Given the description of an element on the screen output the (x, y) to click on. 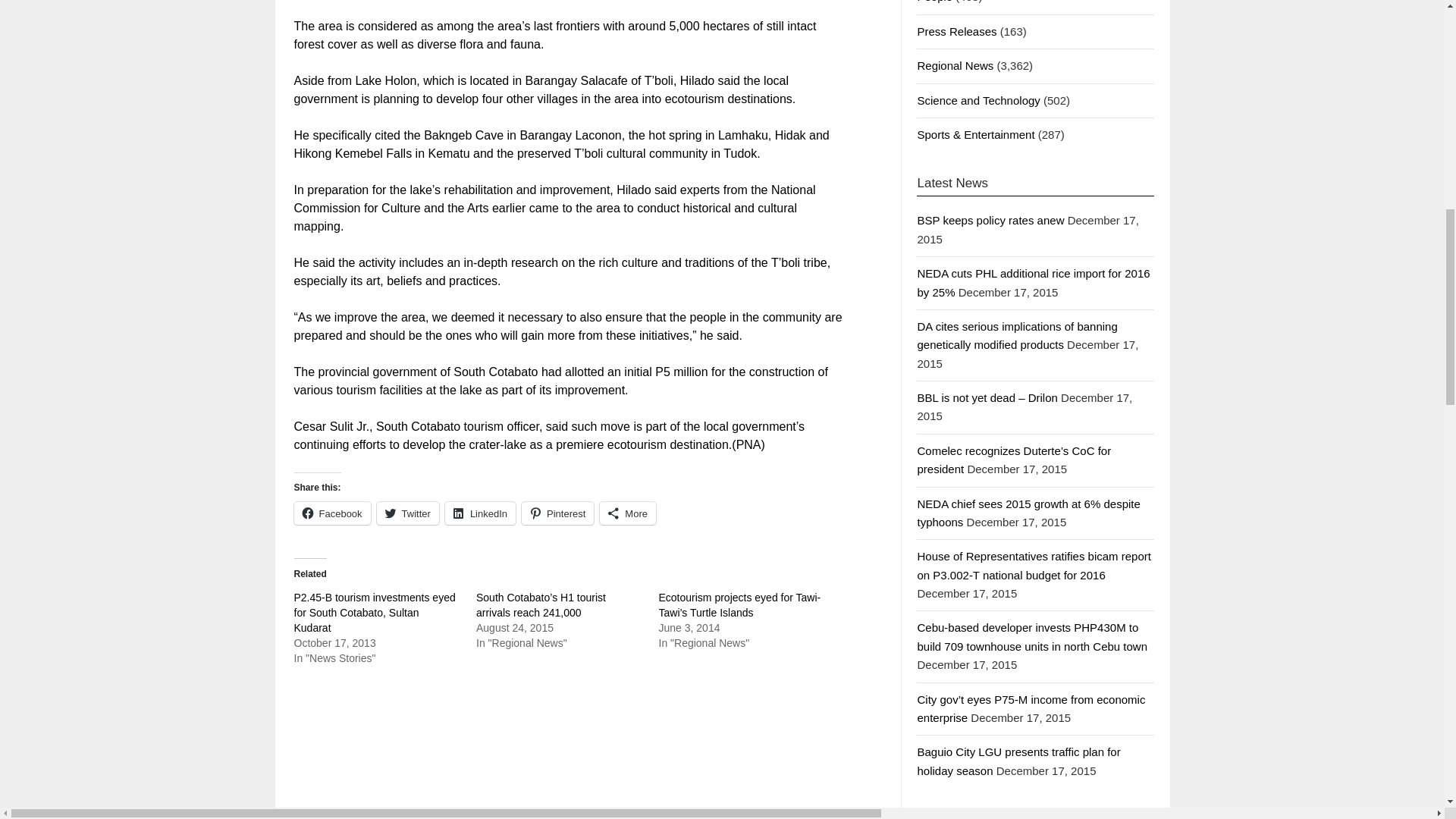
Pinterest (557, 513)
Click to share on Twitter (408, 513)
Facebook (332, 513)
More (627, 513)
Press Releases (956, 31)
Click to share on Facebook (332, 513)
Twitter (408, 513)
Click to share on LinkedIn (480, 513)
Regional News (954, 65)
LinkedIn (480, 513)
People (934, 1)
Click to share on Pinterest (557, 513)
Science and Technology (978, 100)
